Given the description of an element on the screen output the (x, y) to click on. 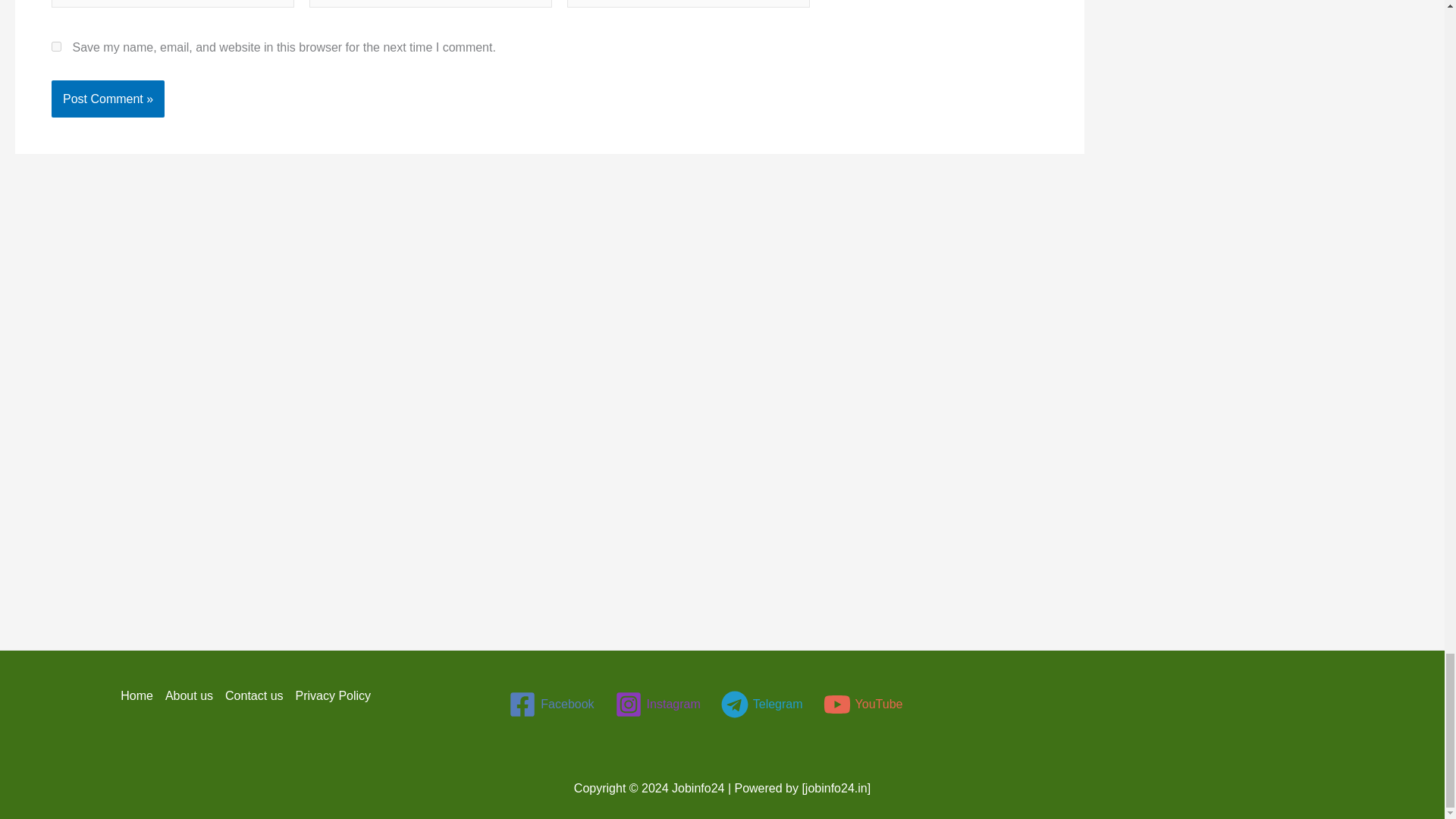
yes (55, 46)
